Given the description of an element on the screen output the (x, y) to click on. 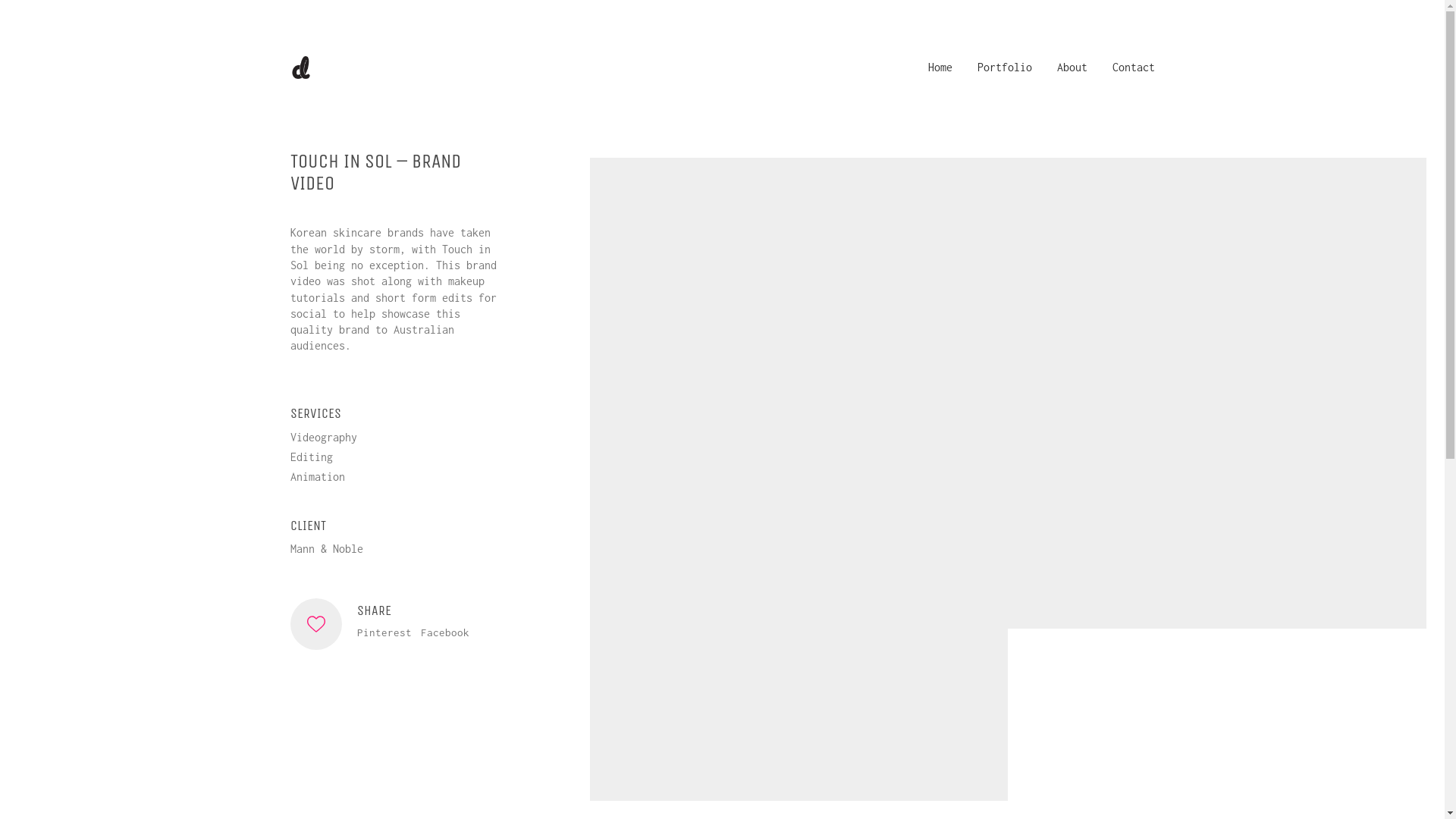
Contact Element type: text (1132, 67)
Pinterest Element type: text (383, 632)
Portfolio Element type: text (1003, 67)
Facebook Element type: text (444, 632)
Home Element type: text (940, 67)
About Element type: text (1072, 67)
